Given the description of an element on the screen output the (x, y) to click on. 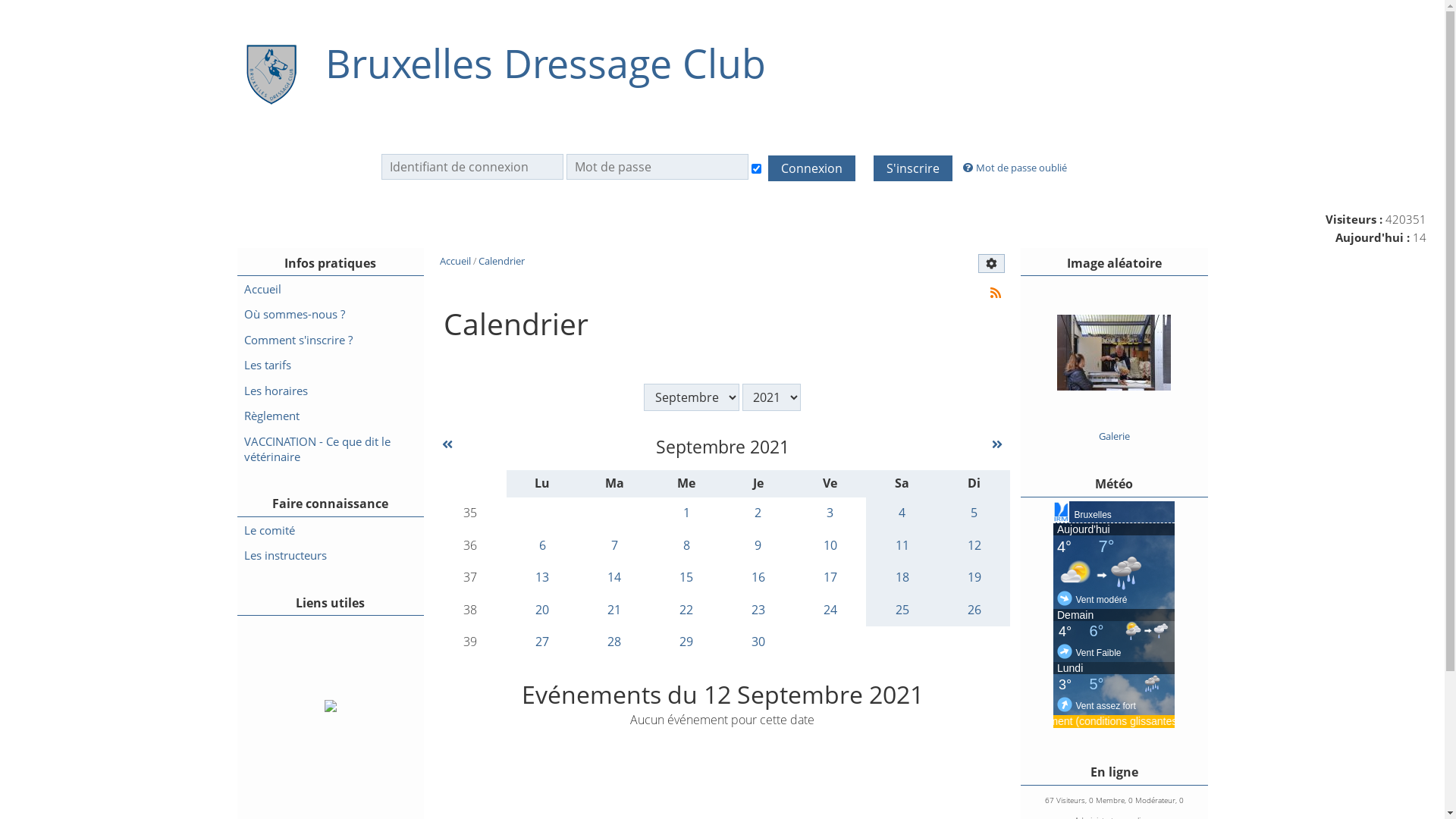
21 Element type: text (614, 609)
Accueil Element type: text (456, 260)
25 Element type: text (901, 609)
12 Element type: text (973, 545)
29 Element type: text (686, 642)
22 Element type: text (686, 609)
6 Element type: text (542, 545)
7 Element type: text (614, 545)
Calendrier Element type: text (501, 260)
16 Element type: text (757, 577)
17 Element type: text (829, 577)
26 Element type: text (973, 609)
10 Element type: text (829, 545)
28 Element type: text (614, 642)
Accueil Element type: text (329, 288)
30 Element type: text (757, 642)
S'inscrire Element type: text (912, 168)
19 Element type: text (973, 577)
Galerie Element type: text (1113, 435)
8 Element type: text (686, 545)
Les tarifs Element type: text (329, 365)
Mot de passe Element type: hover (657, 166)
5 Element type: text (973, 513)
Comment s'inscrire ? Element type: text (329, 339)
11 Element type: text (901, 545)
23 Element type: text (757, 609)
9 Element type: text (757, 545)
Connexion auto Element type: hover (756, 168)
Les horaires Element type: text (329, 390)
Concours Intime Element type: hover (1113, 414)
Connexion Element type: text (811, 168)
15 Element type: text (686, 577)
27 Element type: text (542, 642)
3 Element type: text (829, 513)
Les instructeurs Element type: text (329, 554)
Syndication Element type: hover (995, 292)
2 Element type: text (757, 513)
Octobre 2021 Element type: hover (996, 444)
13 Element type: text (542, 577)
4 Element type: text (901, 513)
20 Element type: text (542, 609)
Bruxelles Dressage Club Element type: text (545, 63)
1 Element type: text (686, 513)
18 Element type: text (901, 577)
24 Element type: text (829, 609)
14 Element type: text (614, 577)
